Given the description of an element on the screen output the (x, y) to click on. 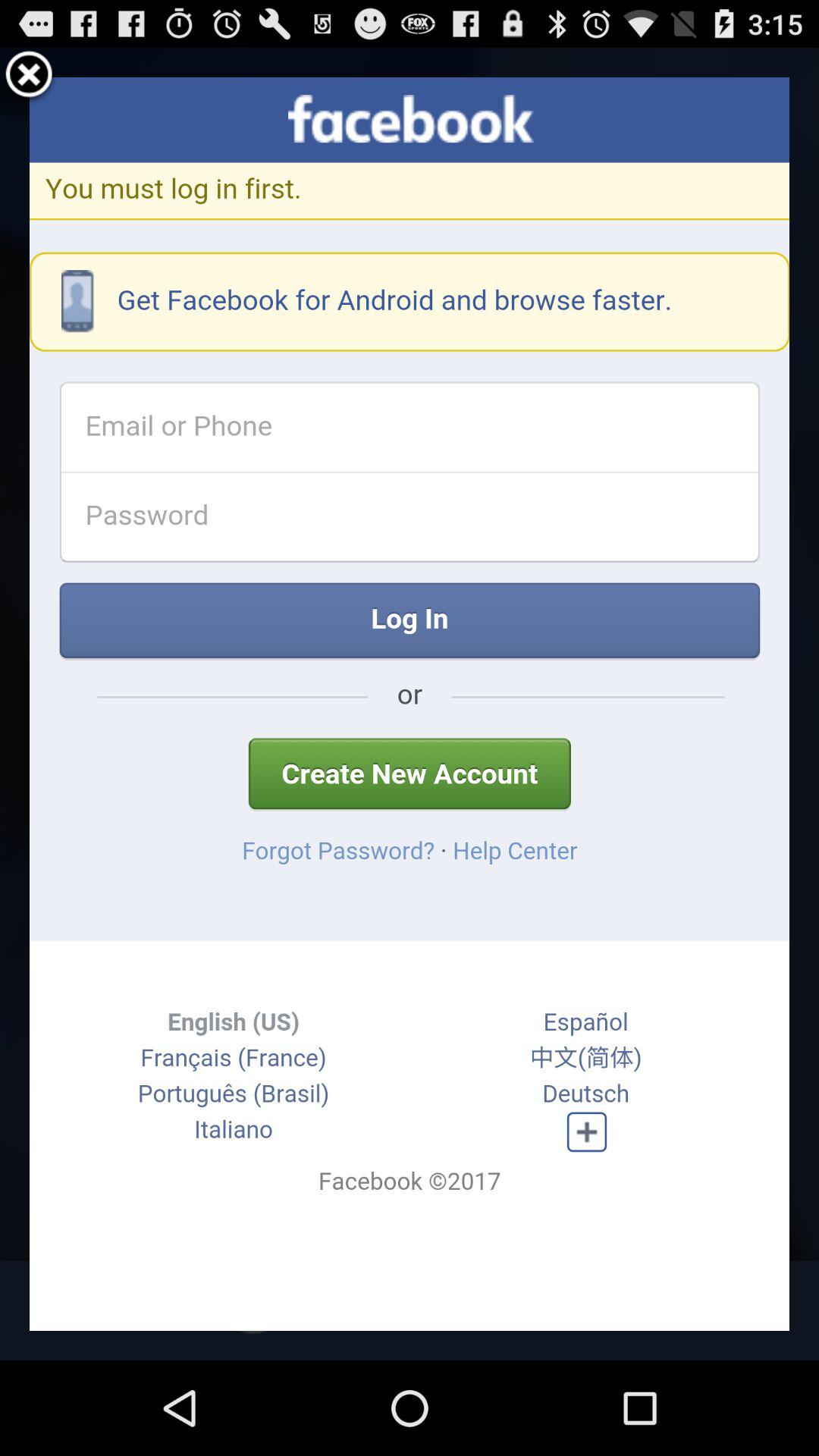
close button (29, 76)
